Given the description of an element on the screen output the (x, y) to click on. 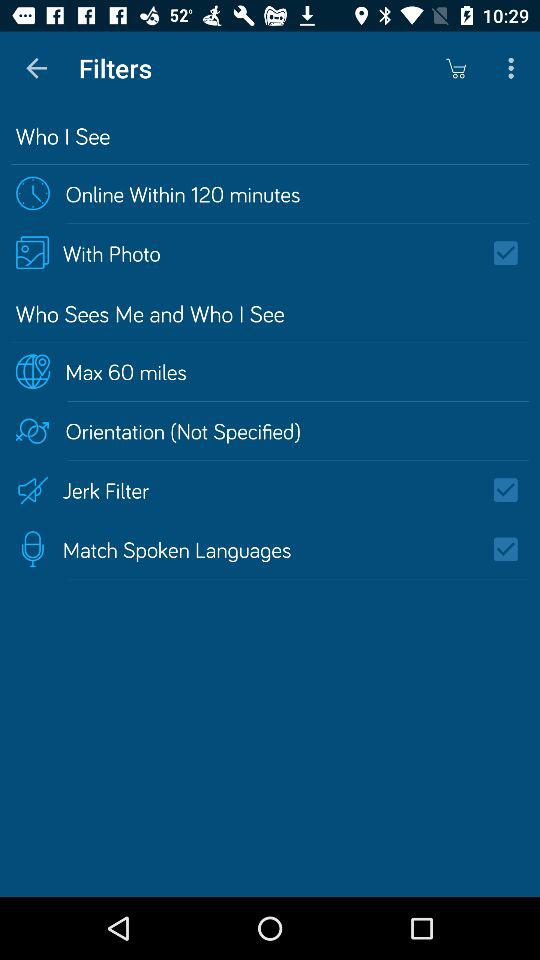
toggle match spoken languages filter (512, 549)
